Given the description of an element on the screen output the (x, y) to click on. 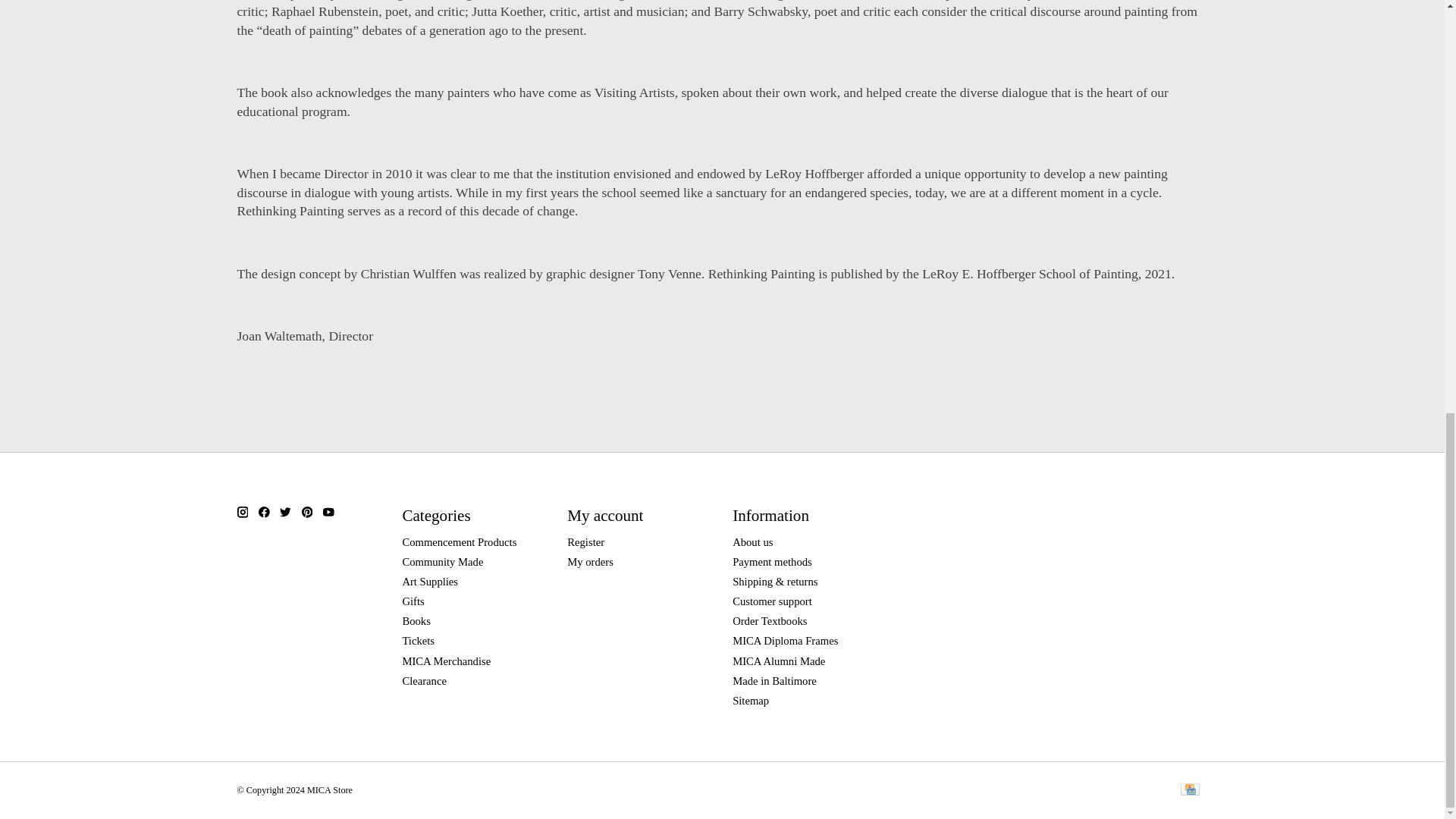
MICA Diploma Frames (785, 640)
Customer support (772, 601)
Sitemap (750, 700)
Register (585, 541)
Made in Baltimore (774, 680)
My orders (589, 562)
Payment methods (772, 562)
Credit Card (1188, 790)
Order Textbooks (769, 621)
About us (752, 541)
MICA Alumni Made (778, 661)
